Given the description of an element on the screen output the (x, y) to click on. 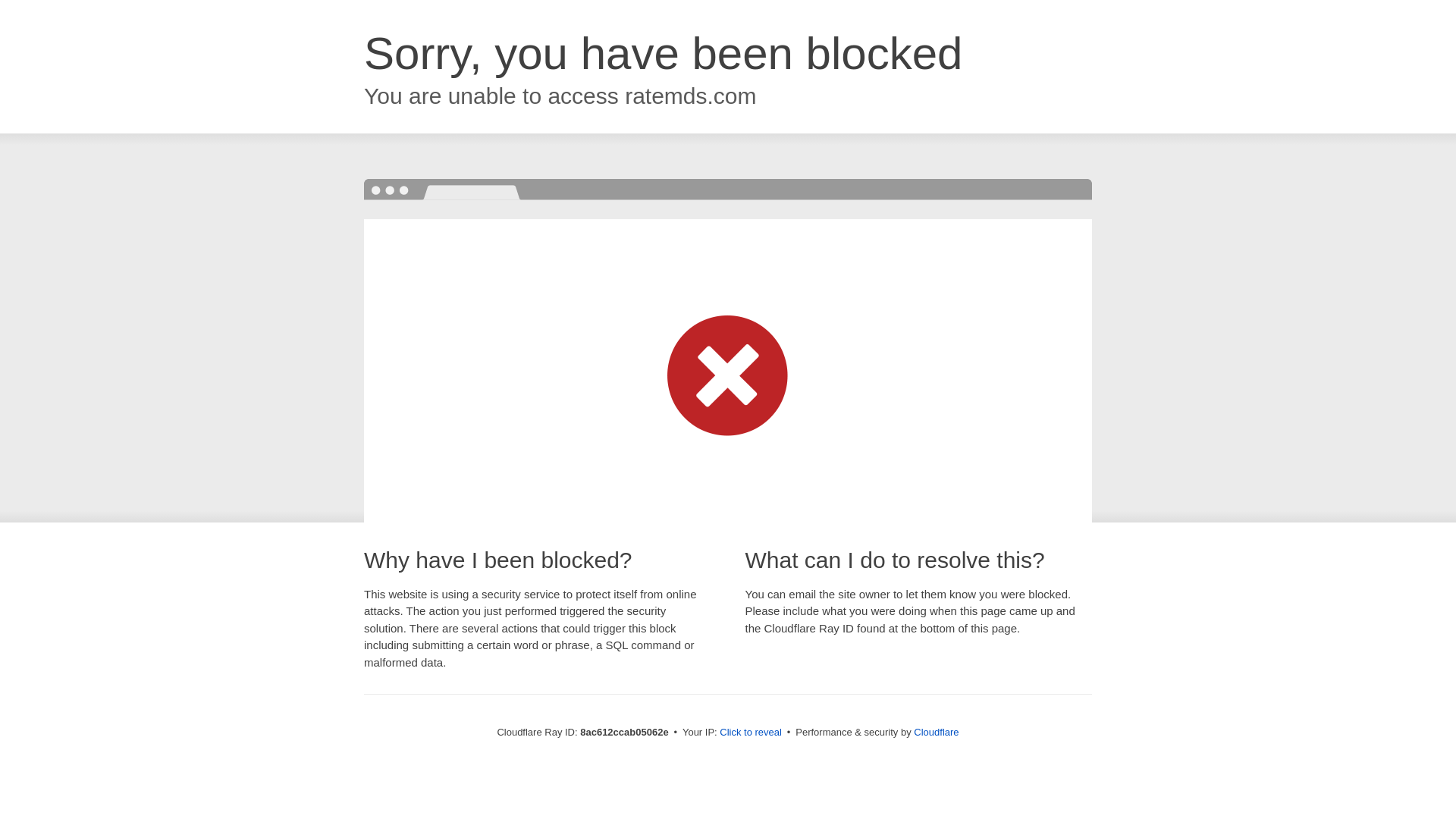
Cloudflare (936, 731)
Click to reveal (750, 732)
